Given the description of an element on the screen output the (x, y) to click on. 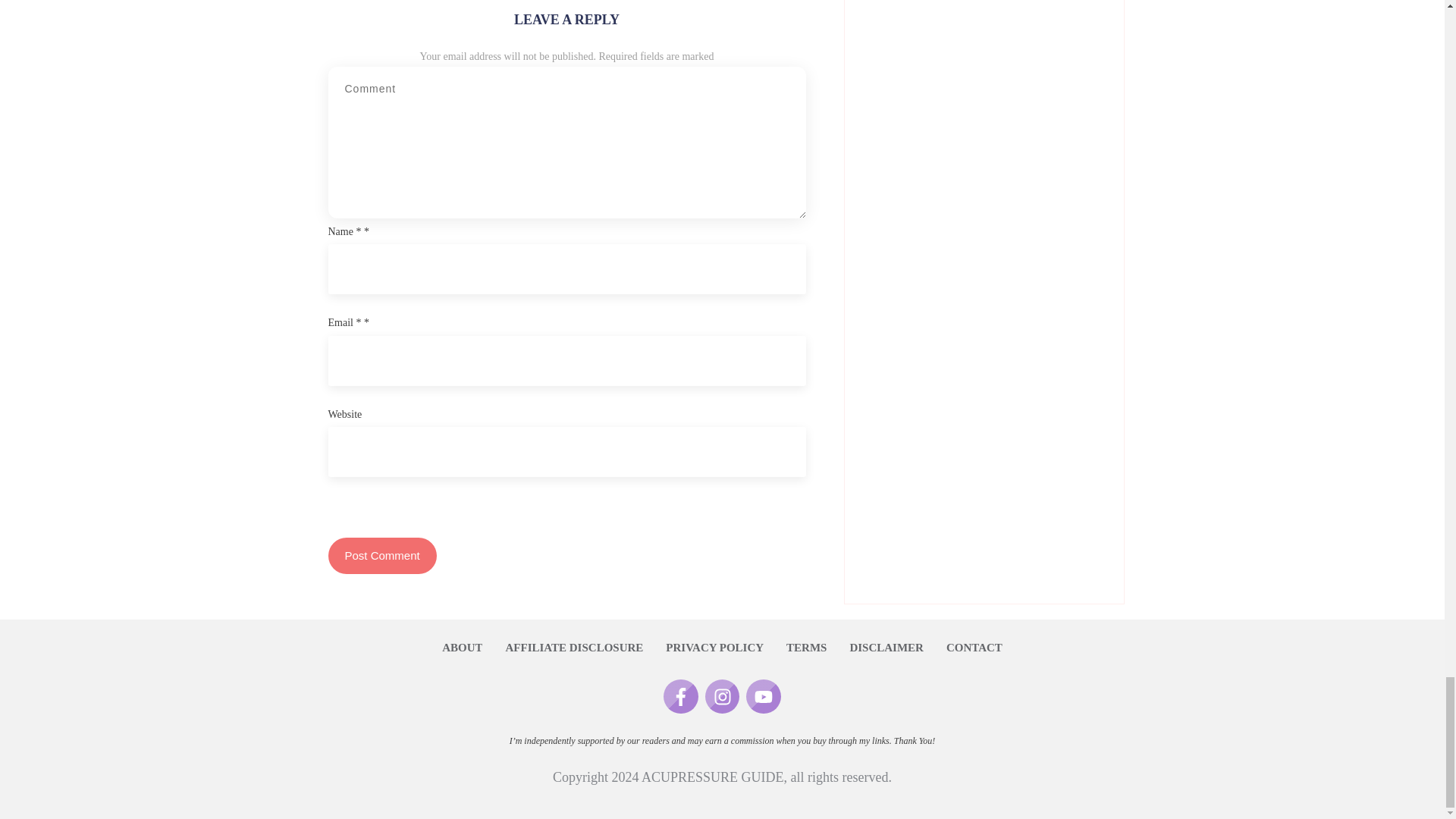
Post Comment (381, 555)
